Given the description of an element on the screen output the (x, y) to click on. 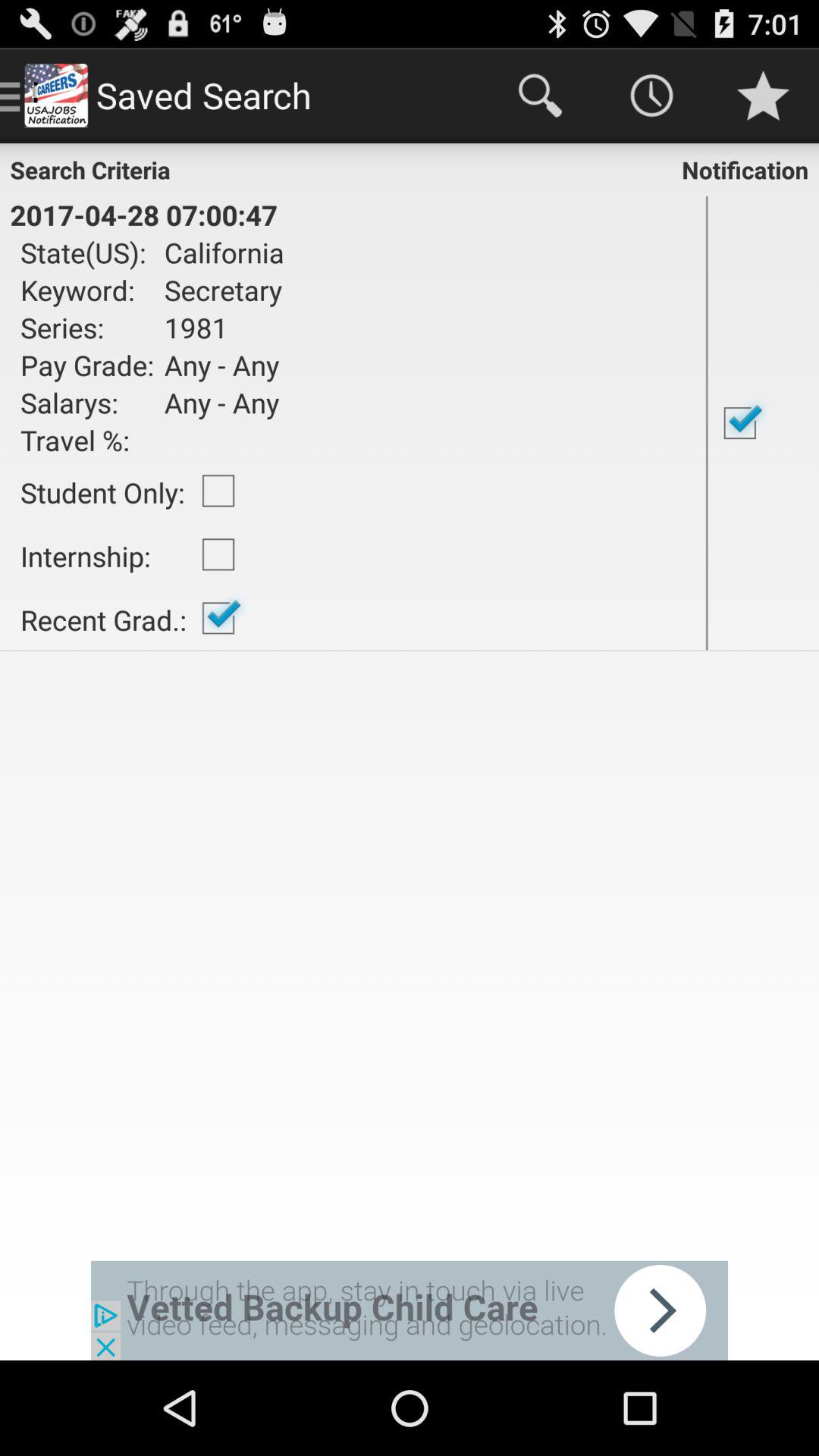
click the icon at the top (540, 95)
